Given the description of an element on the screen output the (x, y) to click on. 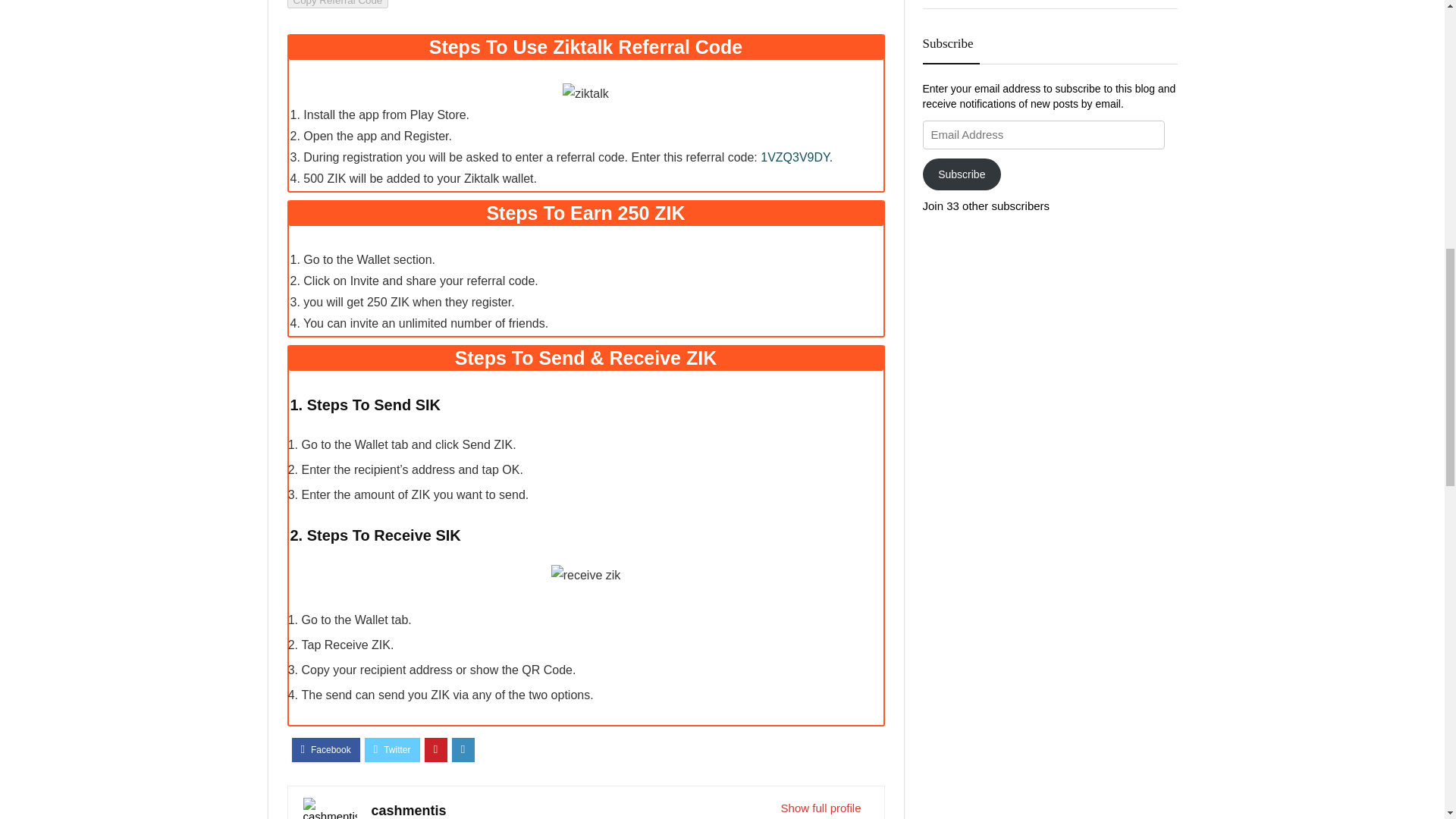
cashmentis (408, 810)
Copy Referral Code (337, 4)
Show full profile (820, 807)
